Given the description of an element on the screen output the (x, y) to click on. 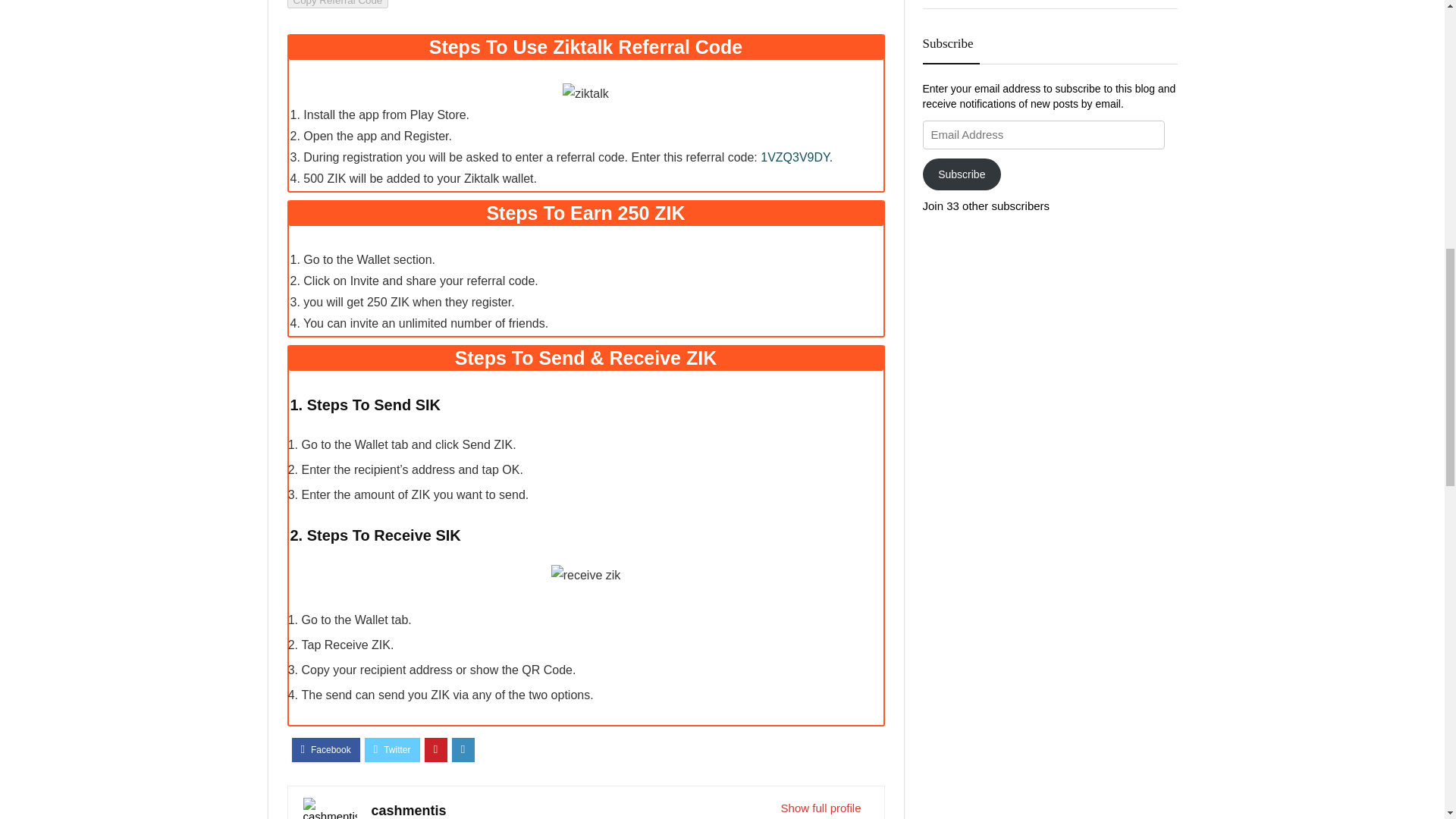
cashmentis (408, 810)
Copy Referral Code (337, 4)
Show full profile (820, 807)
